Given the description of an element on the screen output the (x, y) to click on. 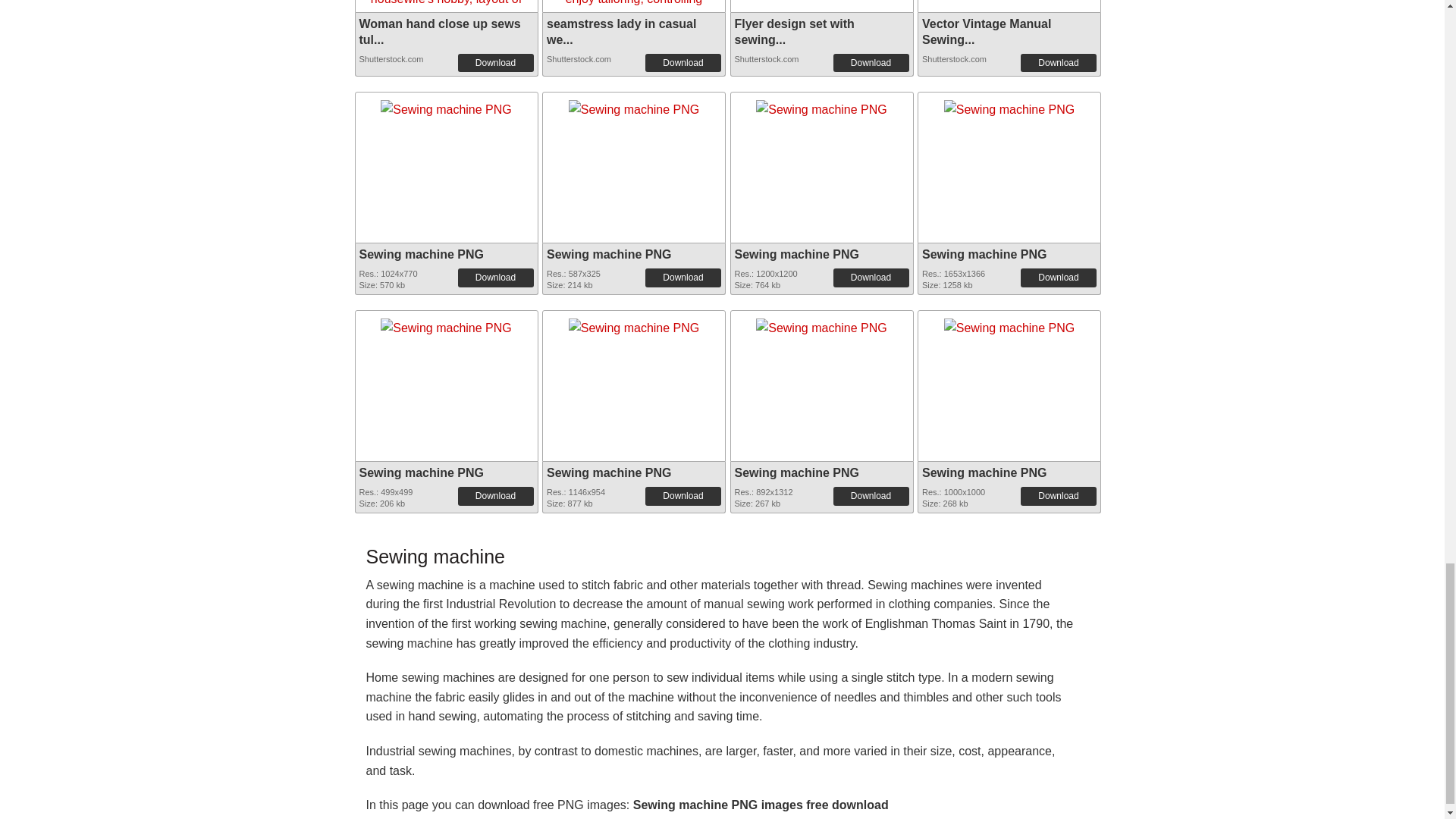
Download (496, 277)
Sewing machine PNG (421, 254)
Woman hand close up sews tul... (440, 31)
Sewing machine PNG (634, 104)
Vector Vintage Manual Sewing... (986, 31)
Sewing machine PNG (820, 105)
Sewing machine PNG (796, 254)
Download (496, 63)
Sewing machine PNG (634, 105)
seamstress lady in casual we... (621, 31)
Sewing machine PNG (820, 104)
Sewing machine PNG (446, 324)
Sewing machine PNG (1009, 105)
